Given the description of an element on the screen output the (x, y) to click on. 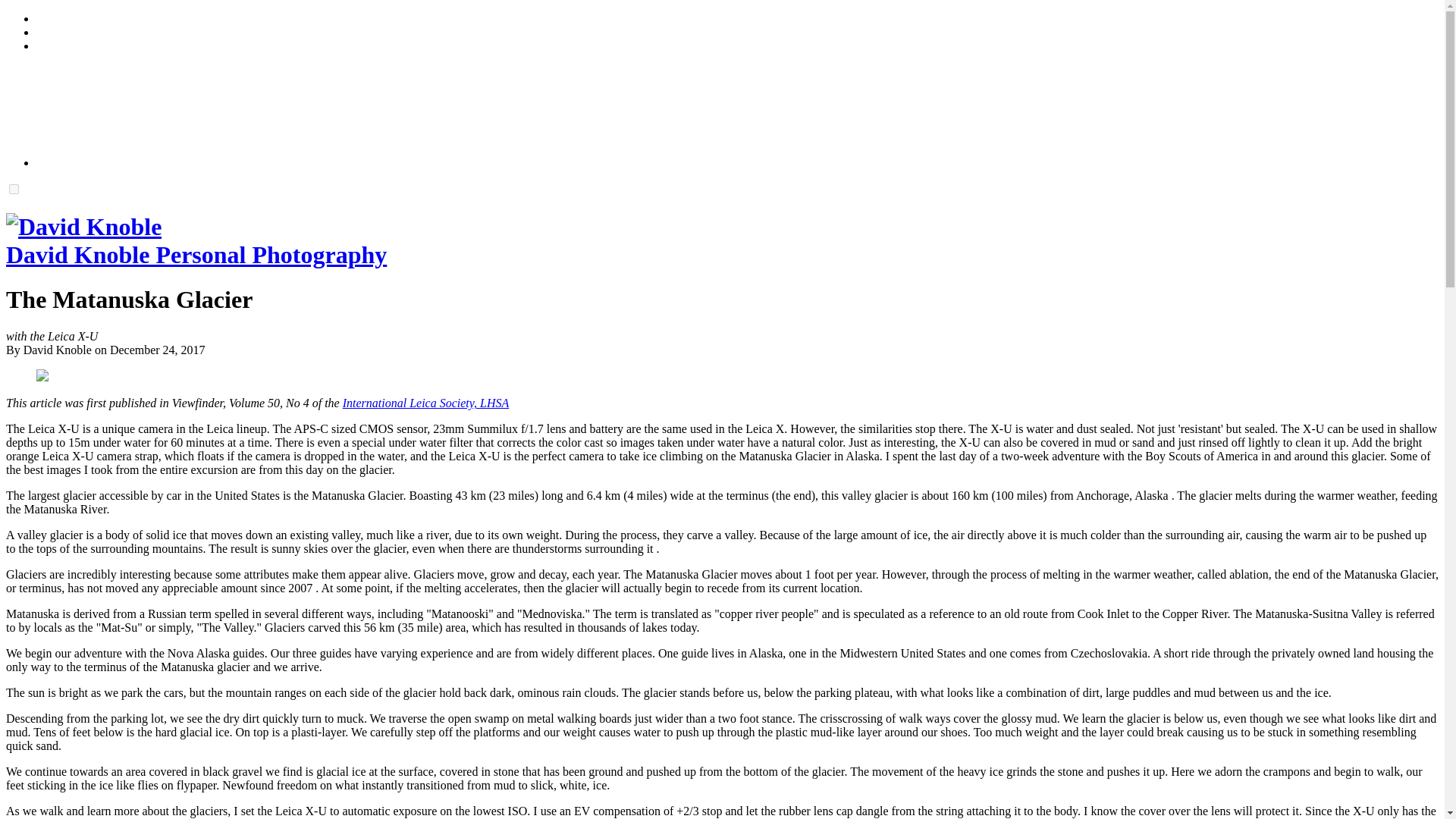
on (13, 189)
International Leica Society, LHSA (425, 402)
